Given the description of an element on the screen output the (x, y) to click on. 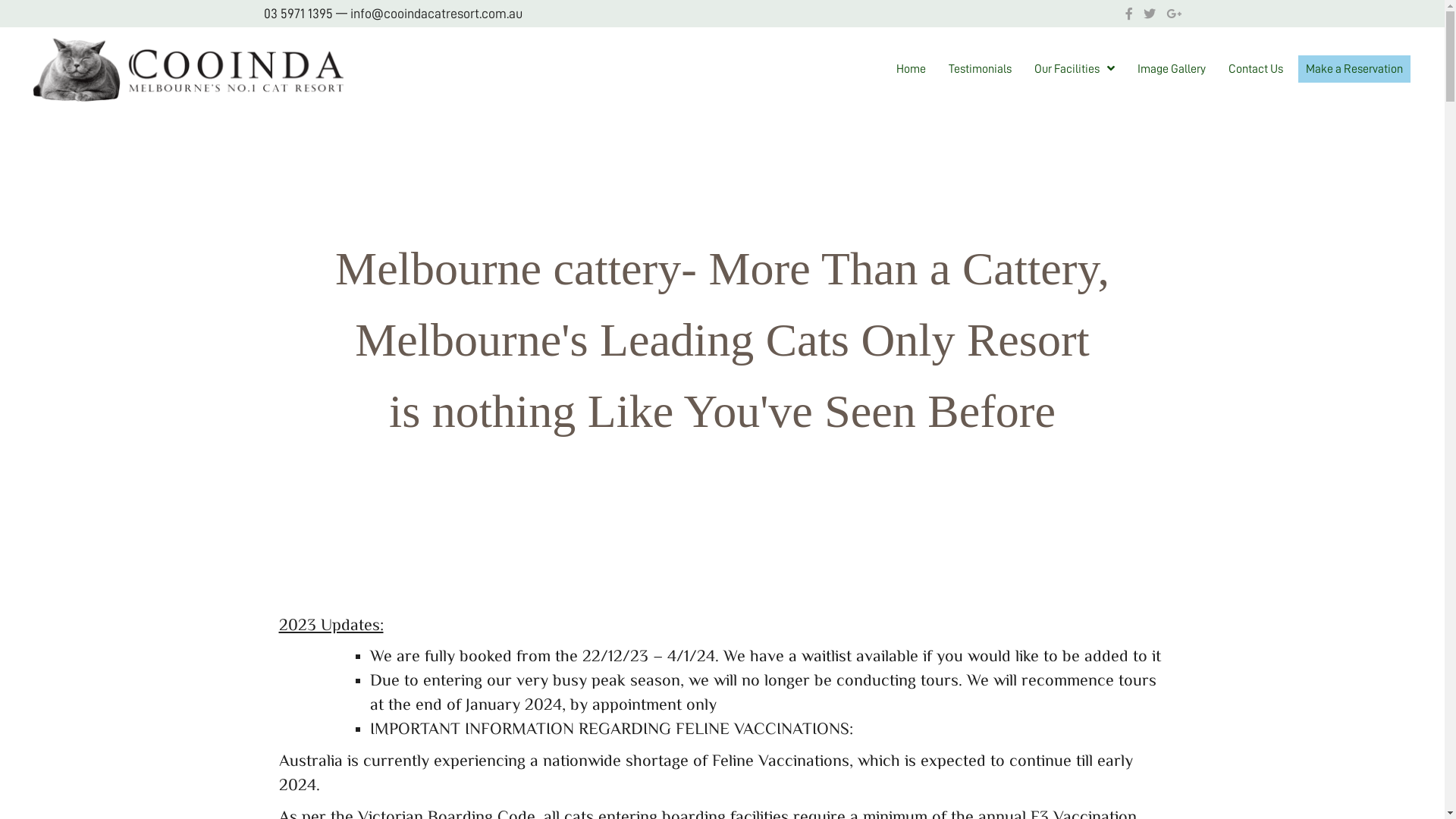
Contact Us Element type: text (1255, 68)
Make a Reservation Element type: text (1354, 68)
Cooinda-Cat-Resort Element type: hover (189, 68)
Image Gallery Element type: text (1171, 68)
Our Facilities Element type: text (1074, 68)
Home Element type: text (910, 68)
Testimonials Element type: text (980, 68)
